Given the description of an element on the screen output the (x, y) to click on. 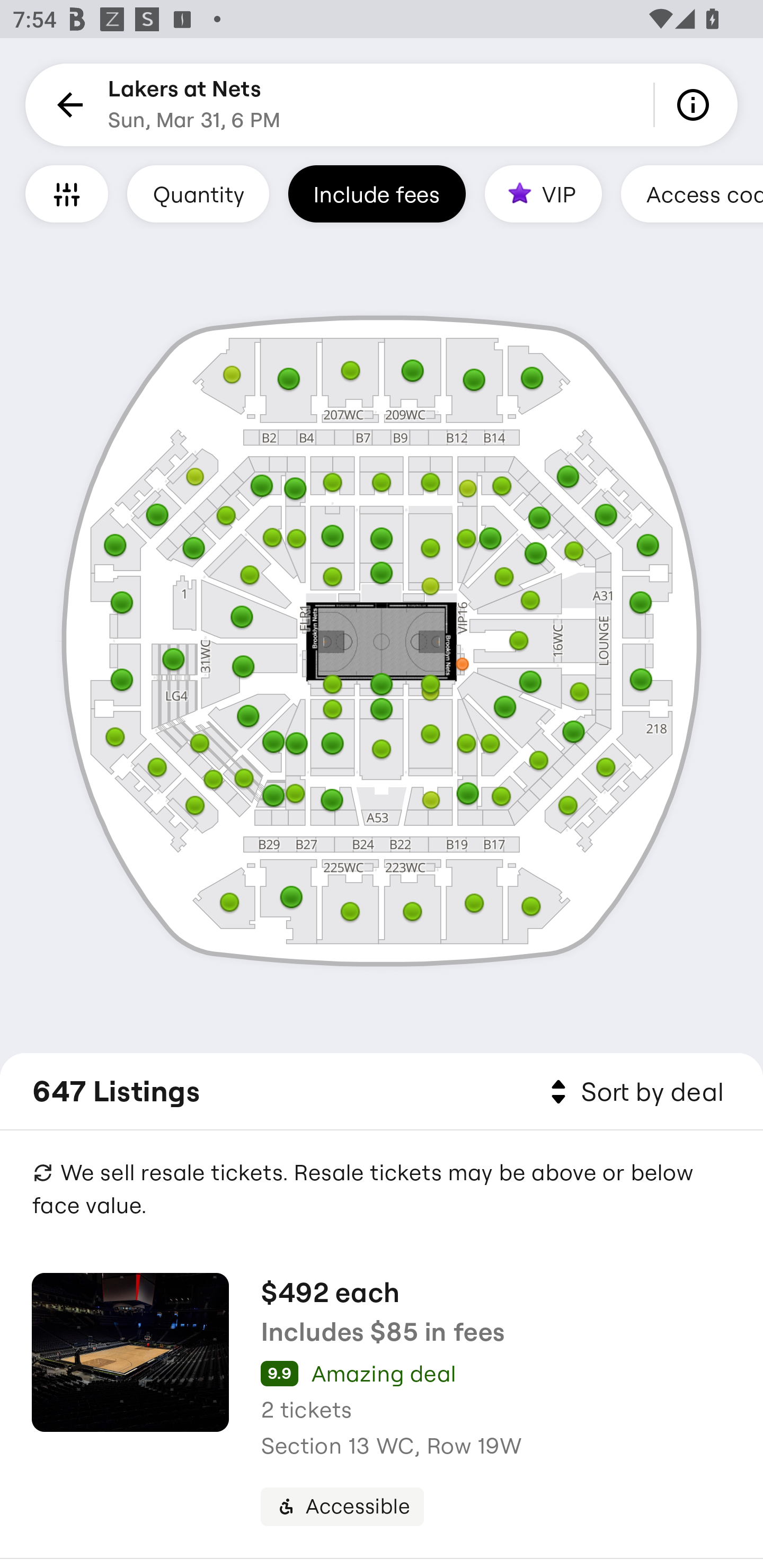
Back (66, 104)
Lakers at Nets Sun, Mar 31, 6 PM (194, 104)
Info (695, 104)
Filters and Accessible Seating (66, 193)
Quantity (198, 193)
Include fees (376, 193)
VIP (543, 193)
Access code (692, 193)
Sort by deal (633, 1091)
